Given the description of an element on the screen output the (x, y) to click on. 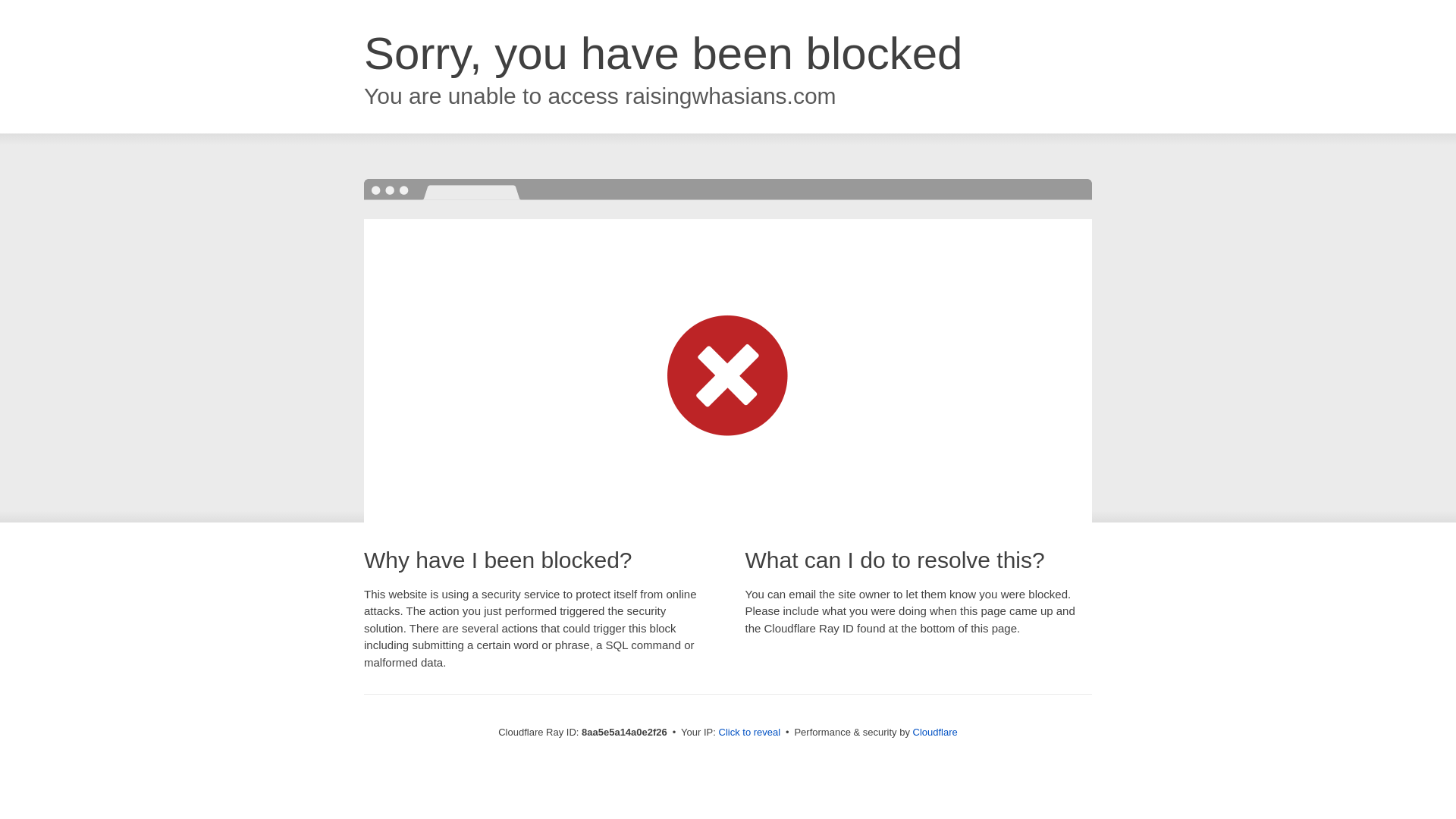
Cloudflare (935, 731)
Click to reveal (749, 732)
